Given the description of an element on the screen output the (x, y) to click on. 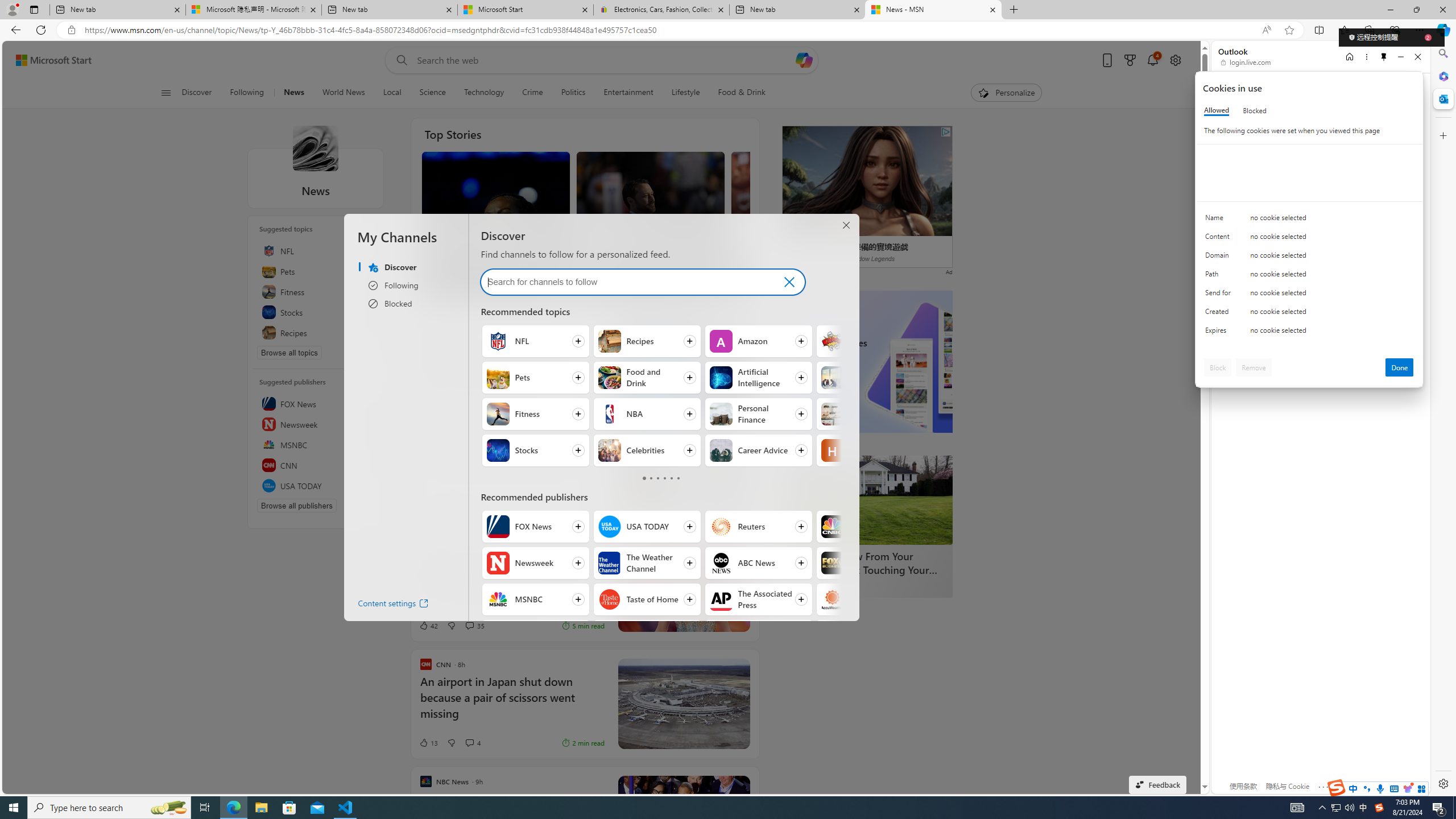
Favorites (1344, 29)
Pets (315, 270)
Close (1417, 56)
Follow The Associated Press (758, 599)
Follow Celebrities (646, 450)
How To Borrow From Your Home Without Touching Your Mortgage (866, 499)
AccuWeather (832, 599)
Follow NBC News (646, 635)
Feedback (1157, 784)
Content settings (383, 605)
Follow MSNBC (535, 599)
Browser essentials (1394, 29)
Crime (532, 92)
Add this page to favorites (Ctrl+D) (1289, 29)
